Given the description of an element on the screen output the (x, y) to click on. 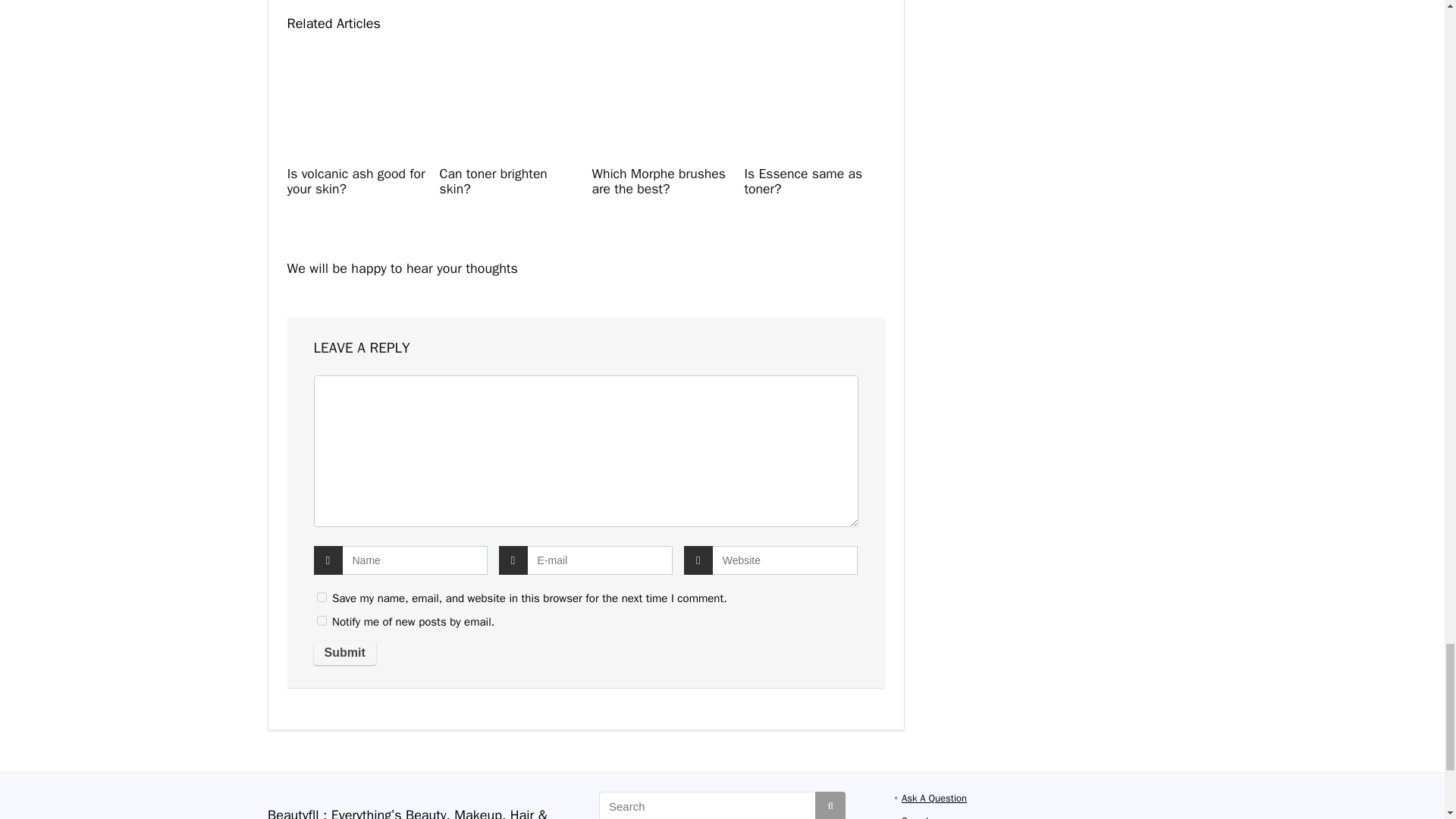
yes (321, 596)
Can toner brighten skin? (493, 181)
subscribe (321, 620)
Which Morphe brushes are the best? (658, 181)
Is volcanic ash good for your skin? (355, 181)
Submit (344, 652)
Is Essence same as toner? (802, 181)
Submit (344, 652)
